Given the description of an element on the screen output the (x, y) to click on. 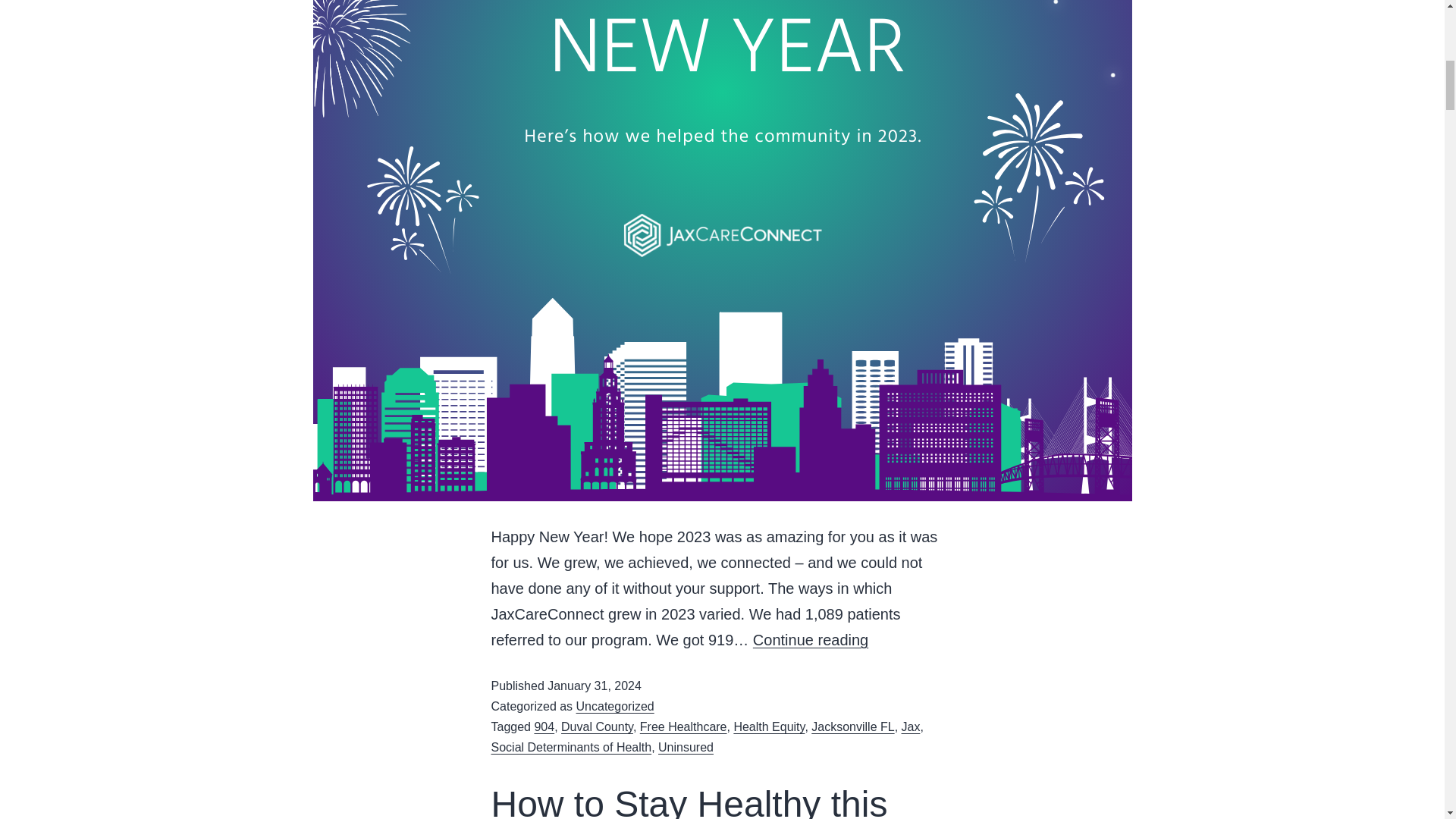
Uncategorized (614, 706)
Health Equity (769, 726)
Duval County (596, 726)
904 (544, 726)
Free Healthcare (683, 726)
Continue reading (809, 639)
